Given the description of an element on the screen output the (x, y) to click on. 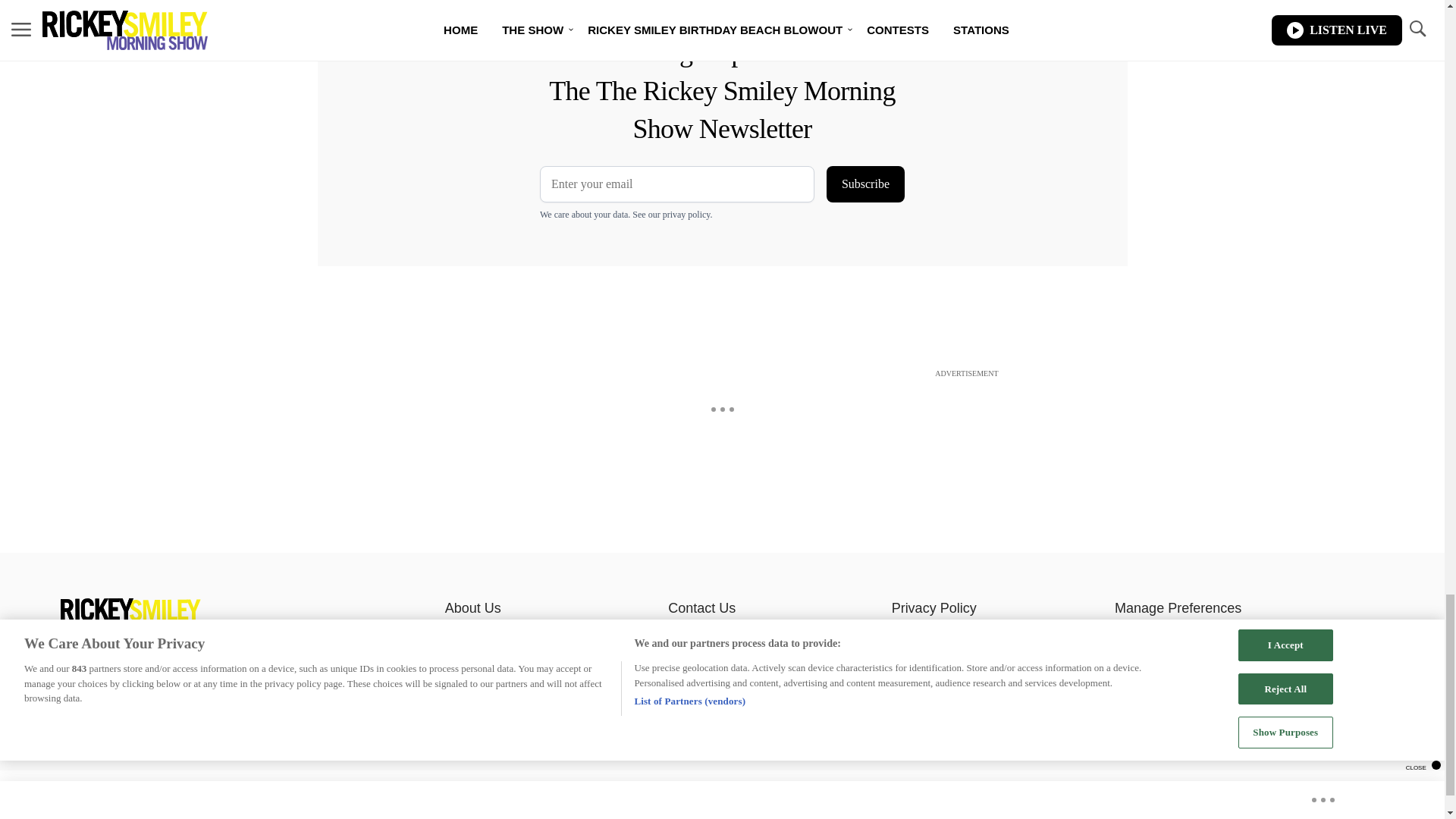
3rd party ad content (721, 415)
